Given the description of an element on the screen output the (x, y) to click on. 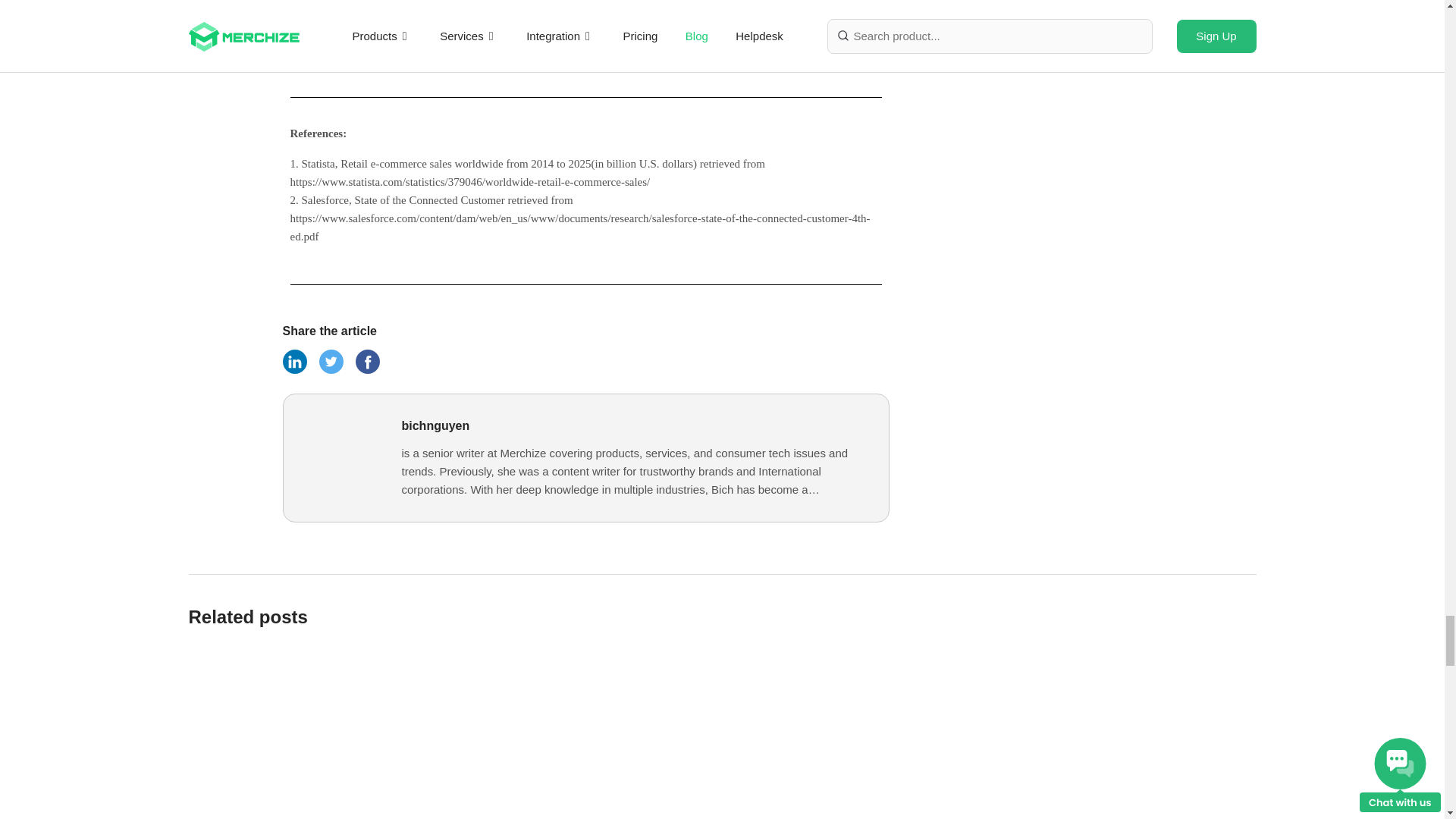
Facebook (293, 370)
